Given the description of an element on the screen output the (x, y) to click on. 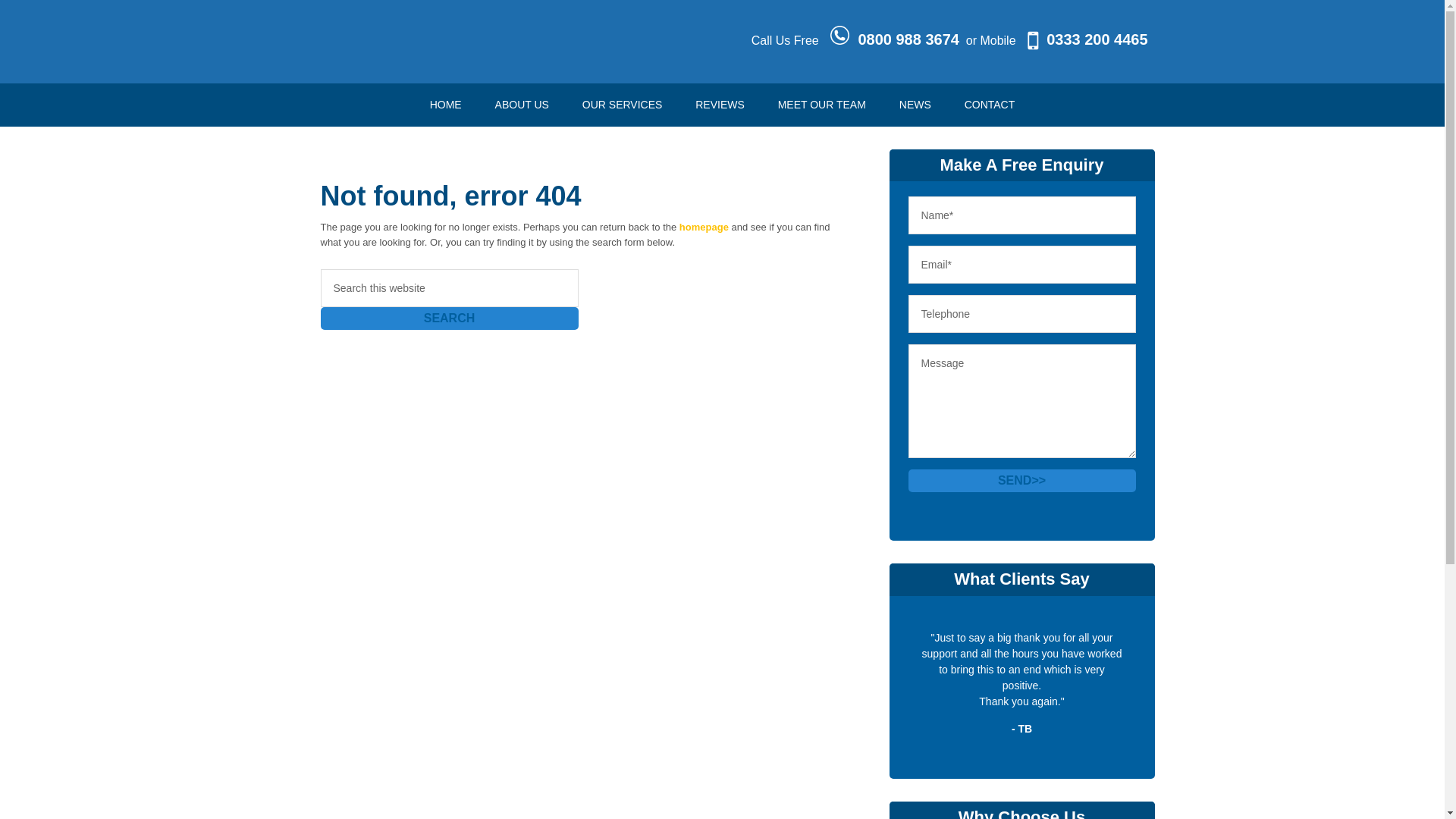
OUR SERVICES (622, 104)
Search (449, 318)
0333 200 4465 (1096, 39)
ABOUT US (522, 104)
0800 988 3674 (907, 39)
HOME (445, 104)
BARTLETTS SOLICITORS (418, 52)
Search (449, 318)
